Given the description of an element on the screen output the (x, y) to click on. 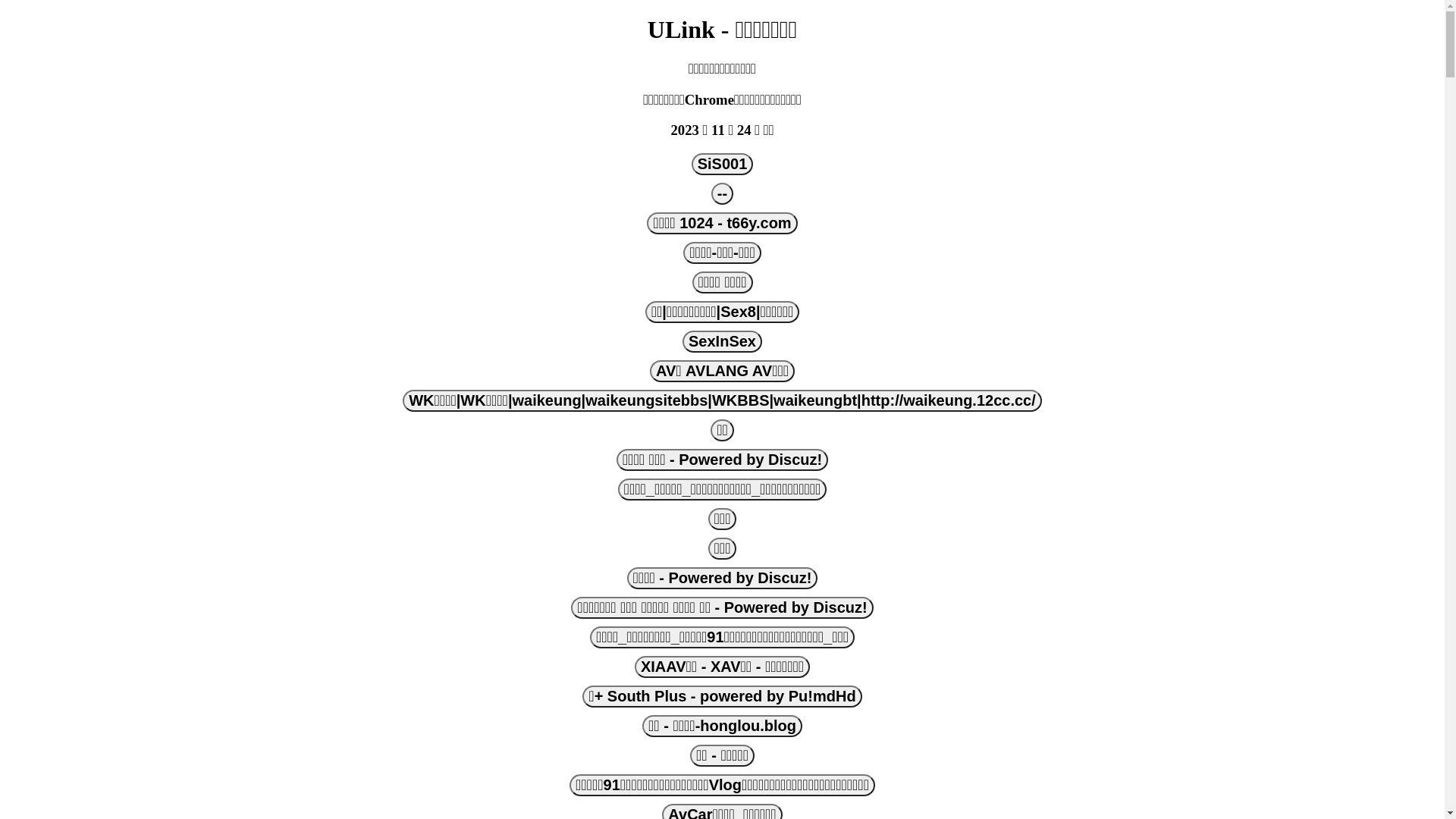
-- Element type: text (722, 193)
SiS001 Element type: text (722, 164)
-- Element type: text (722, 193)
SexInSex Element type: text (722, 341)
SiS001 Element type: text (722, 164)
SexInSex Element type: text (722, 341)
